Given the description of an element on the screen output the (x, y) to click on. 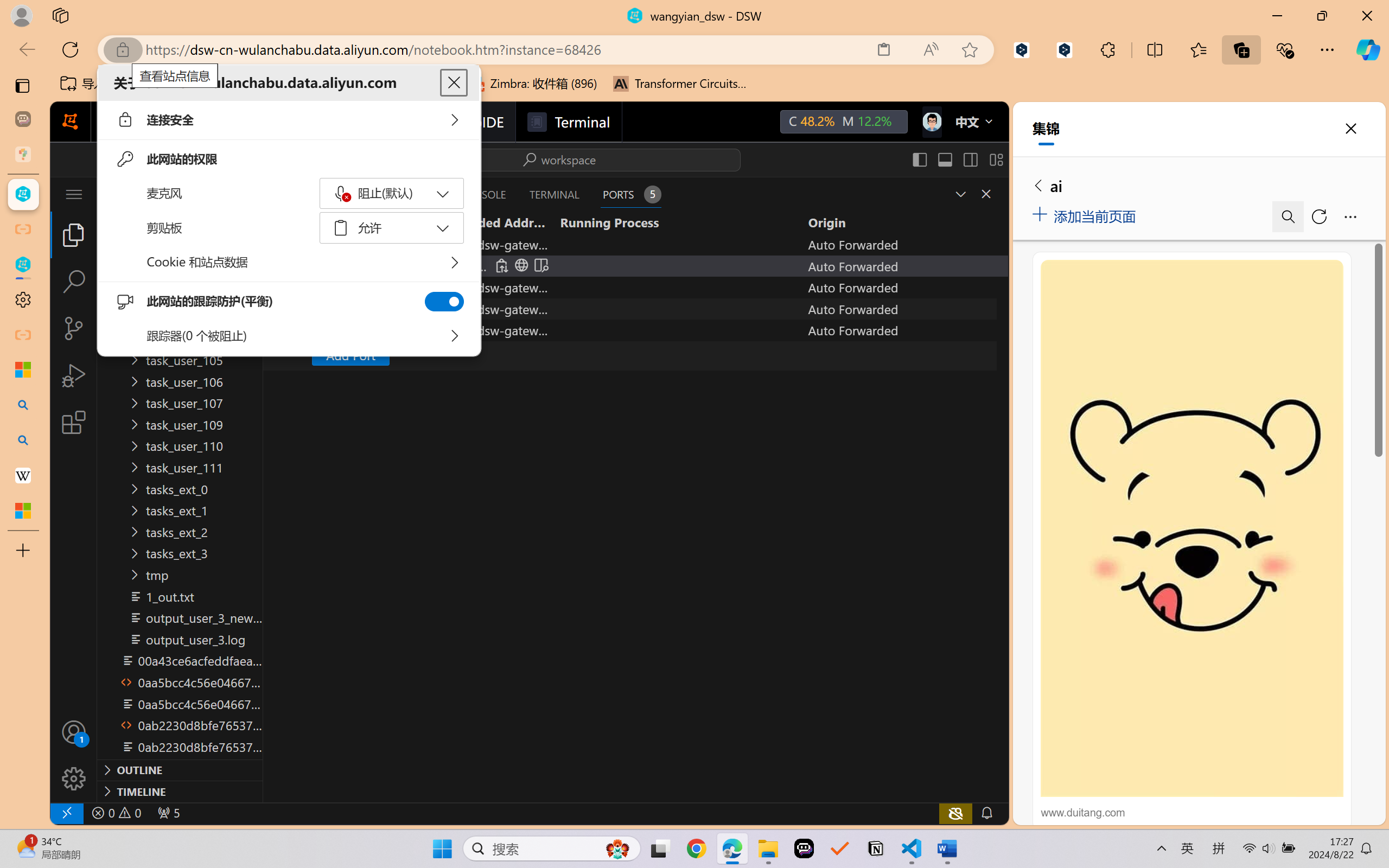
Class: next-menu next-hoz widgets--iconMenu--BFkiHRM (930, 121)
Copilot (Ctrl+Shift+.) (1368, 49)
Notifications (986, 812)
Toggle Panel (Ctrl+J) (944, 159)
No Problems (115, 812)
Ports - 5 forwarded ports Ports - 5 forwarded ports (630, 194)
